Given the description of an element on the screen output the (x, y) to click on. 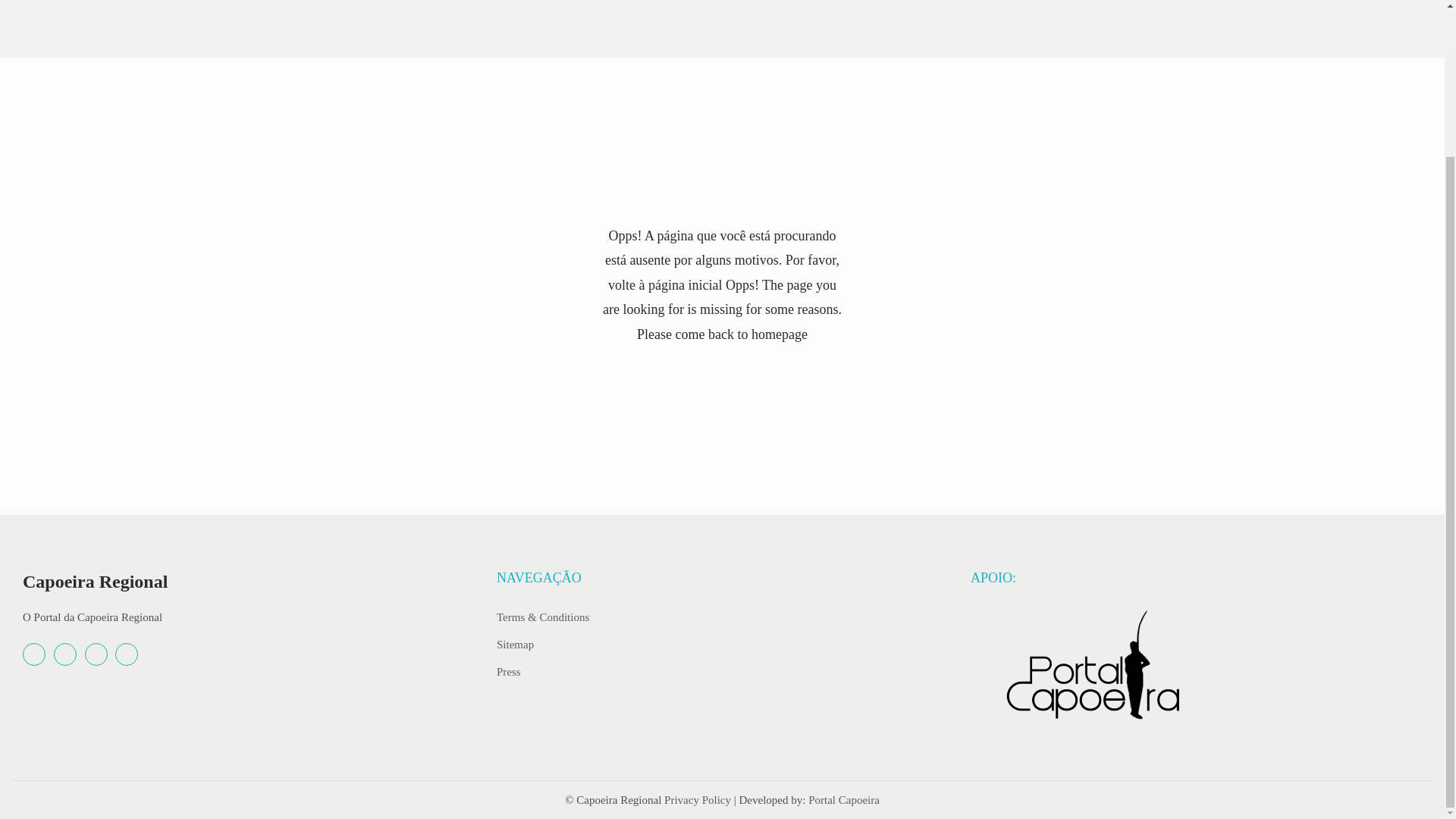
Portal Capoeira (843, 799)
Privacy Policy (696, 799)
Sitemap (515, 644)
Press (508, 671)
